Given the description of an element on the screen output the (x, y) to click on. 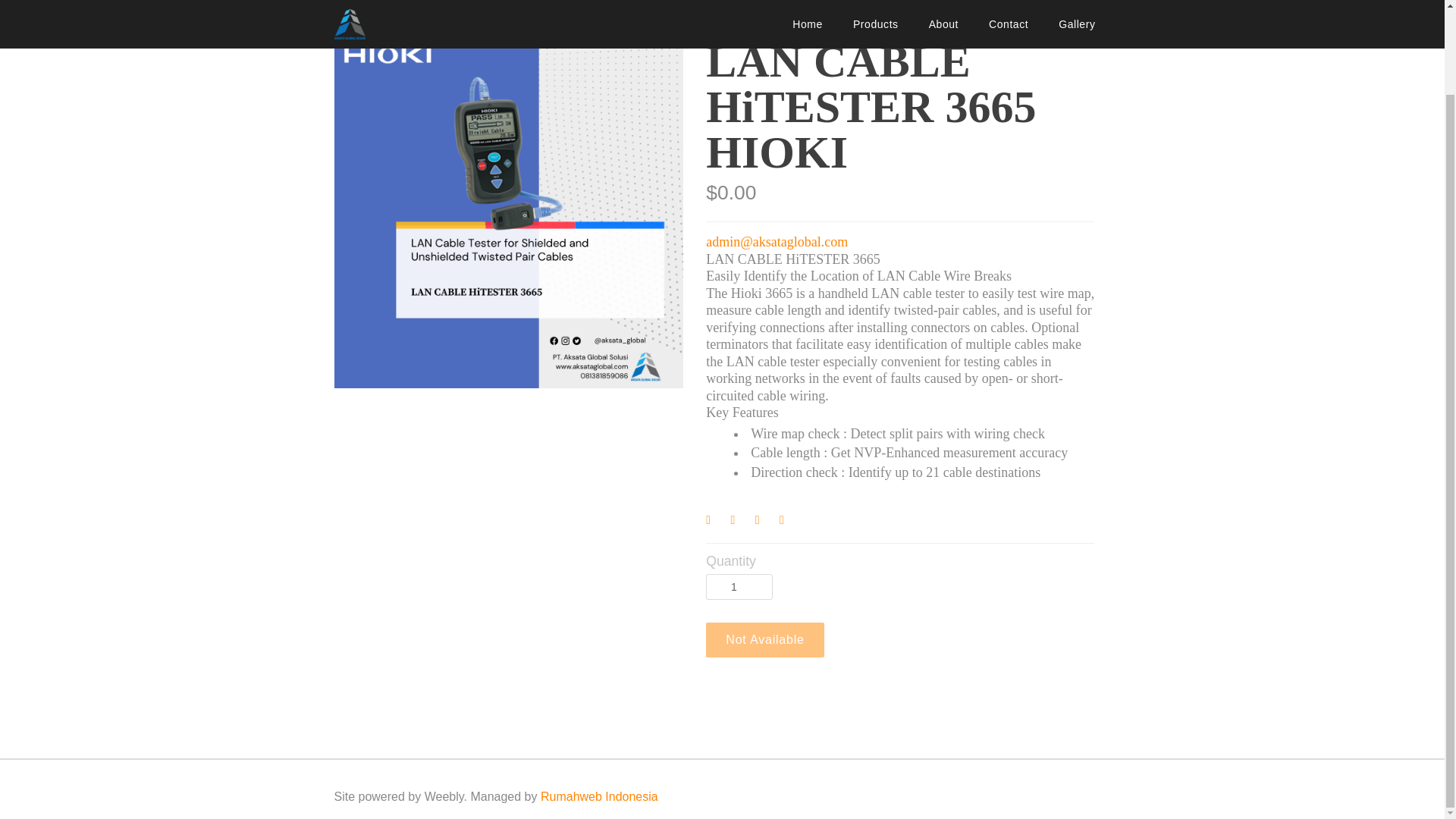
Share on Pinterest (764, 522)
Share on Facebook (714, 522)
Facebook (714, 522)
Rumahweb Indonesia (599, 796)
HIOKI (349, 11)
1 (739, 586)
Share on Twitter (739, 522)
Not Available (765, 639)
Pinterest (764, 522)
Twitter (739, 522)
